Given the description of an element on the screen output the (x, y) to click on. 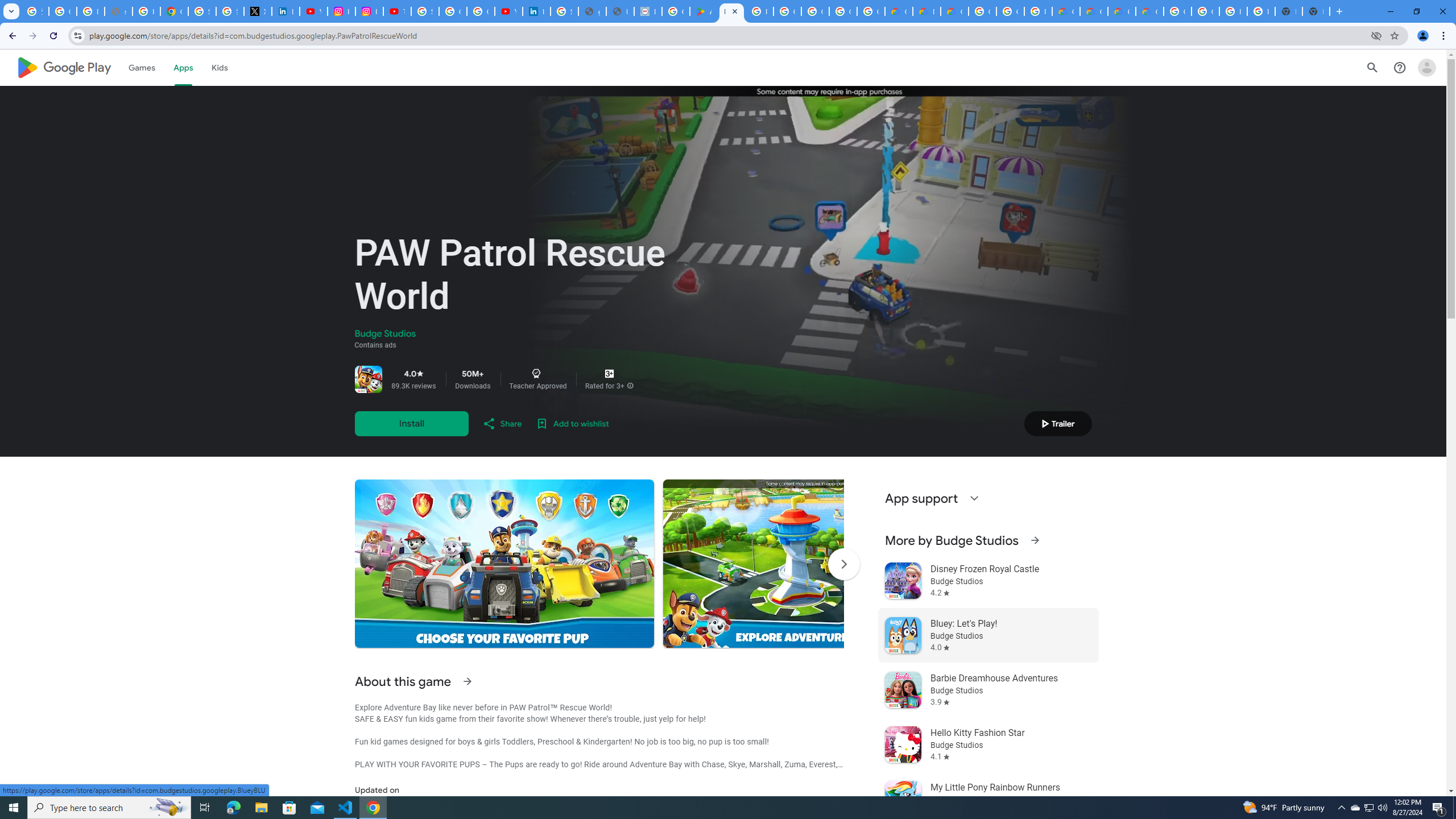
Add to wishlist (571, 422)
X (257, 11)
Games (141, 67)
Google Cloud Platform (1205, 11)
Google Cloud Platform (1010, 11)
See more information on More by Budge Studios (1034, 539)
New Tab (1316, 11)
